Given the description of an element on the screen output the (x, y) to click on. 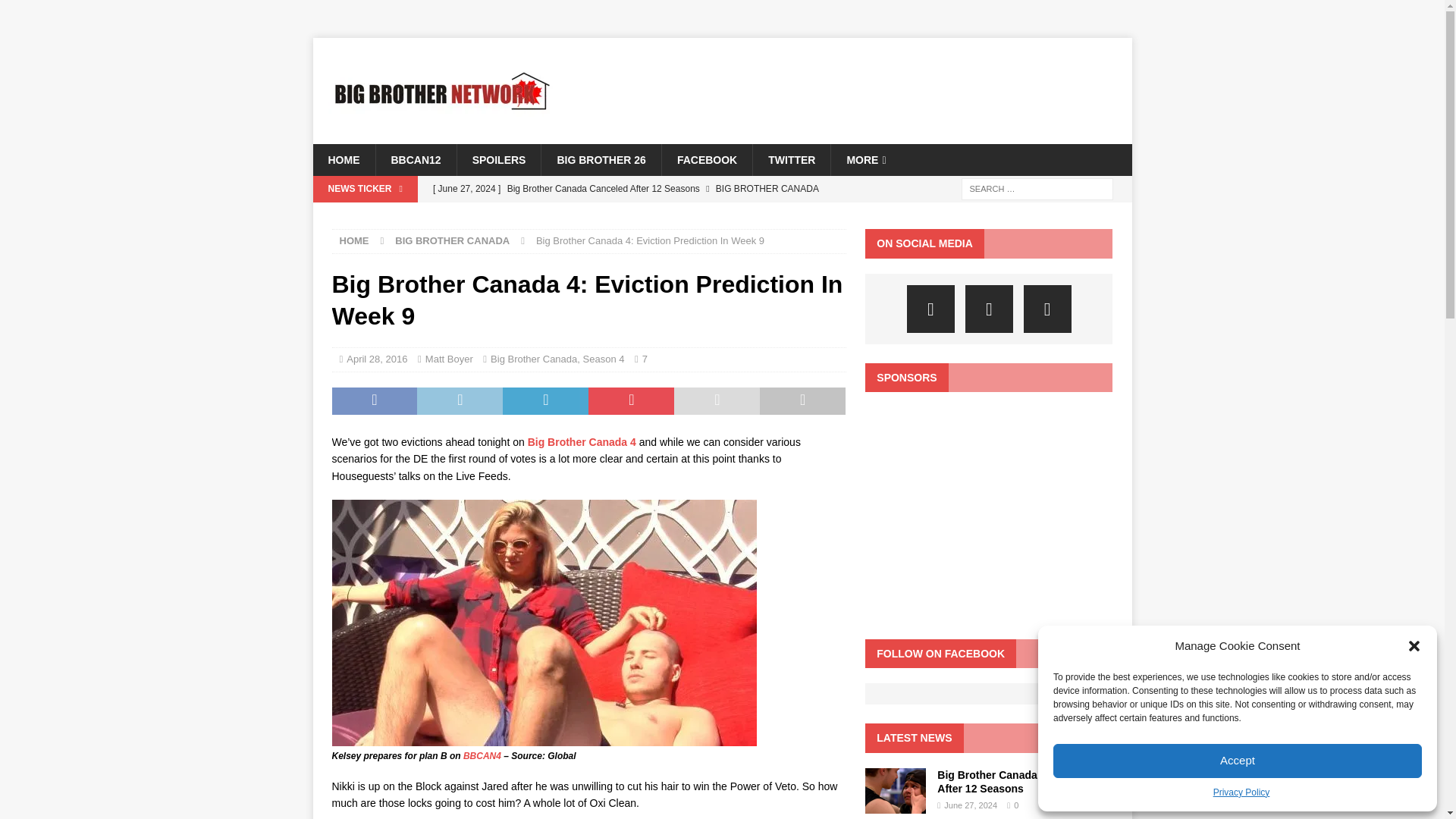
HOME (343, 160)
FACEBOOK (706, 160)
SPOILERS (499, 160)
BIG BROTHER 26 (600, 160)
MORE (865, 160)
Big Brother Canada Canceled After 12 Seasons (634, 188)
Accept (1237, 760)
Advertisement (988, 520)
BBCAN12 (414, 160)
TWITTER (790, 160)
